Given the description of an element on the screen output the (x, y) to click on. 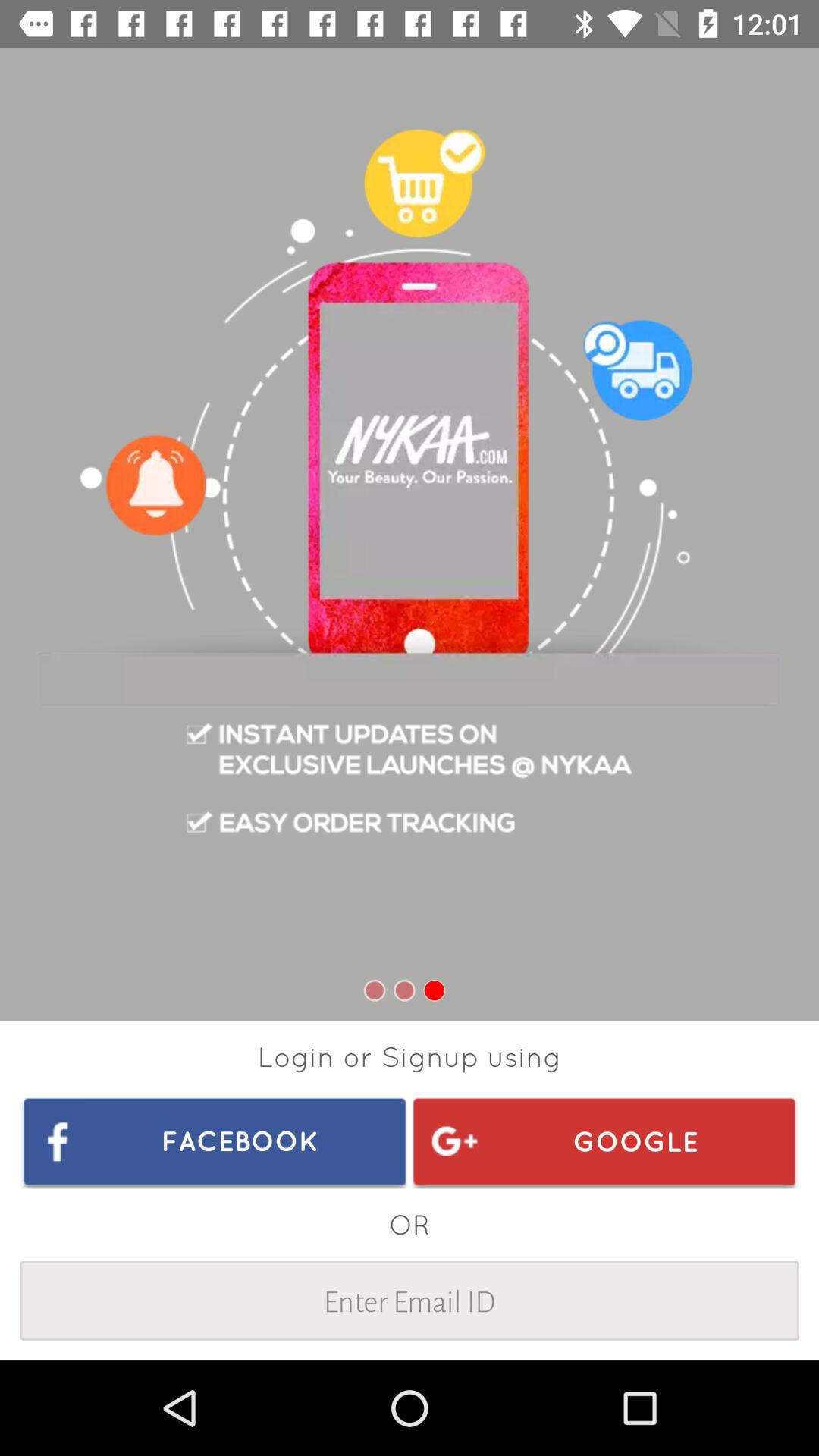
select the item above the or (604, 1140)
